Given the description of an element on the screen output the (x, y) to click on. 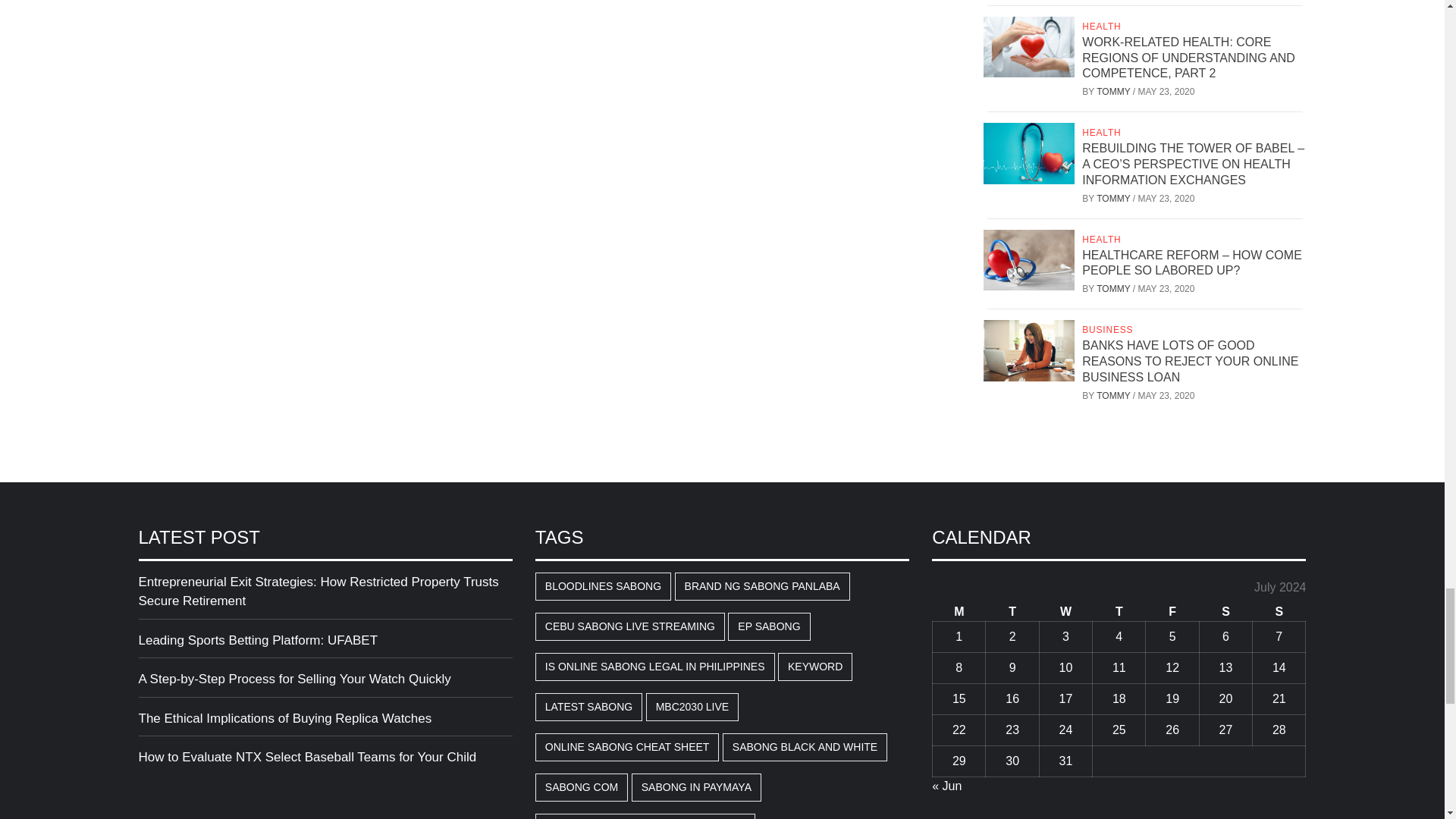
Sunday (1279, 611)
Thursday (1119, 611)
Tuesday (1012, 611)
Saturday (1225, 611)
Monday (959, 611)
Wednesday (1065, 611)
Friday (1171, 611)
